Given the description of an element on the screen output the (x, y) to click on. 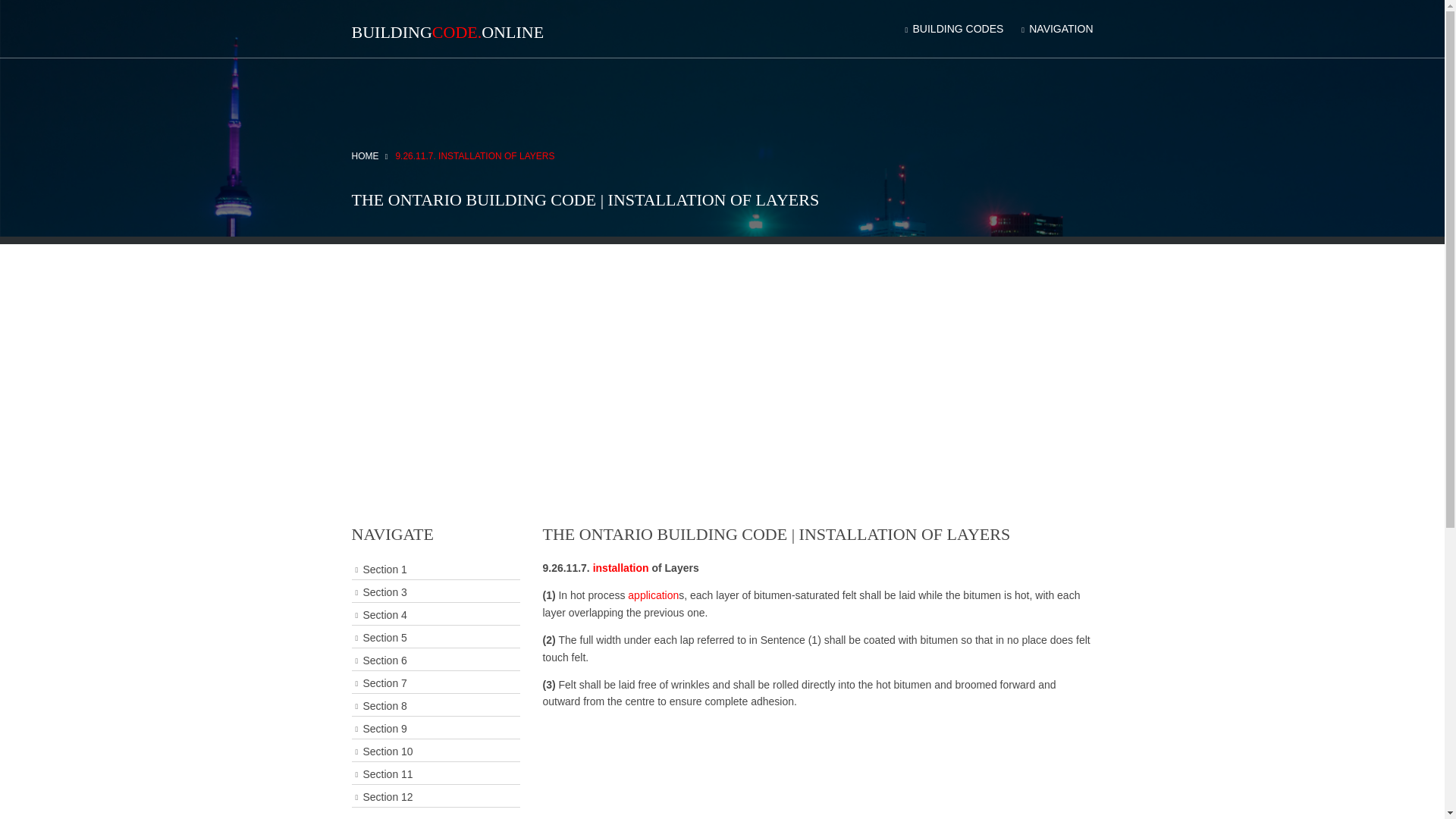
Section 1 (435, 569)
Section 4 (435, 615)
NAVIGATION (1055, 28)
Section 5 (435, 638)
Sprayfoam insulation in Toronto (620, 567)
Section 6 (435, 660)
Section 8 (435, 706)
Section 3 (435, 592)
Section 10 (435, 752)
Business Services in Toronto (652, 594)
Section 11 (435, 774)
installation (620, 567)
HOME (370, 155)
BUILDINGCODE.ONLINE (448, 31)
